Given the description of an element on the screen output the (x, y) to click on. 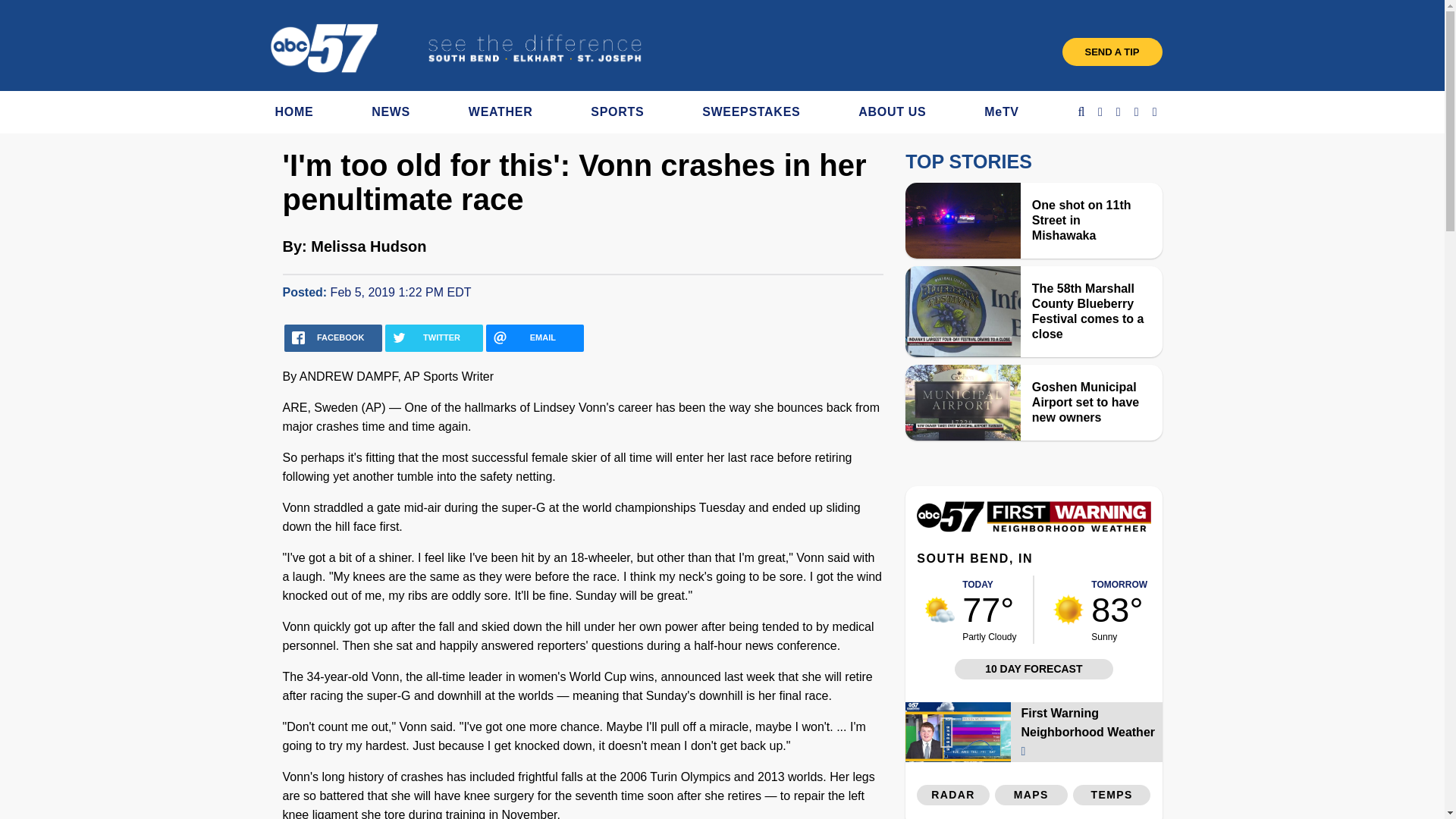
weather (1067, 609)
weather (939, 609)
Weather (1033, 527)
